Given the description of an element on the screen output the (x, y) to click on. 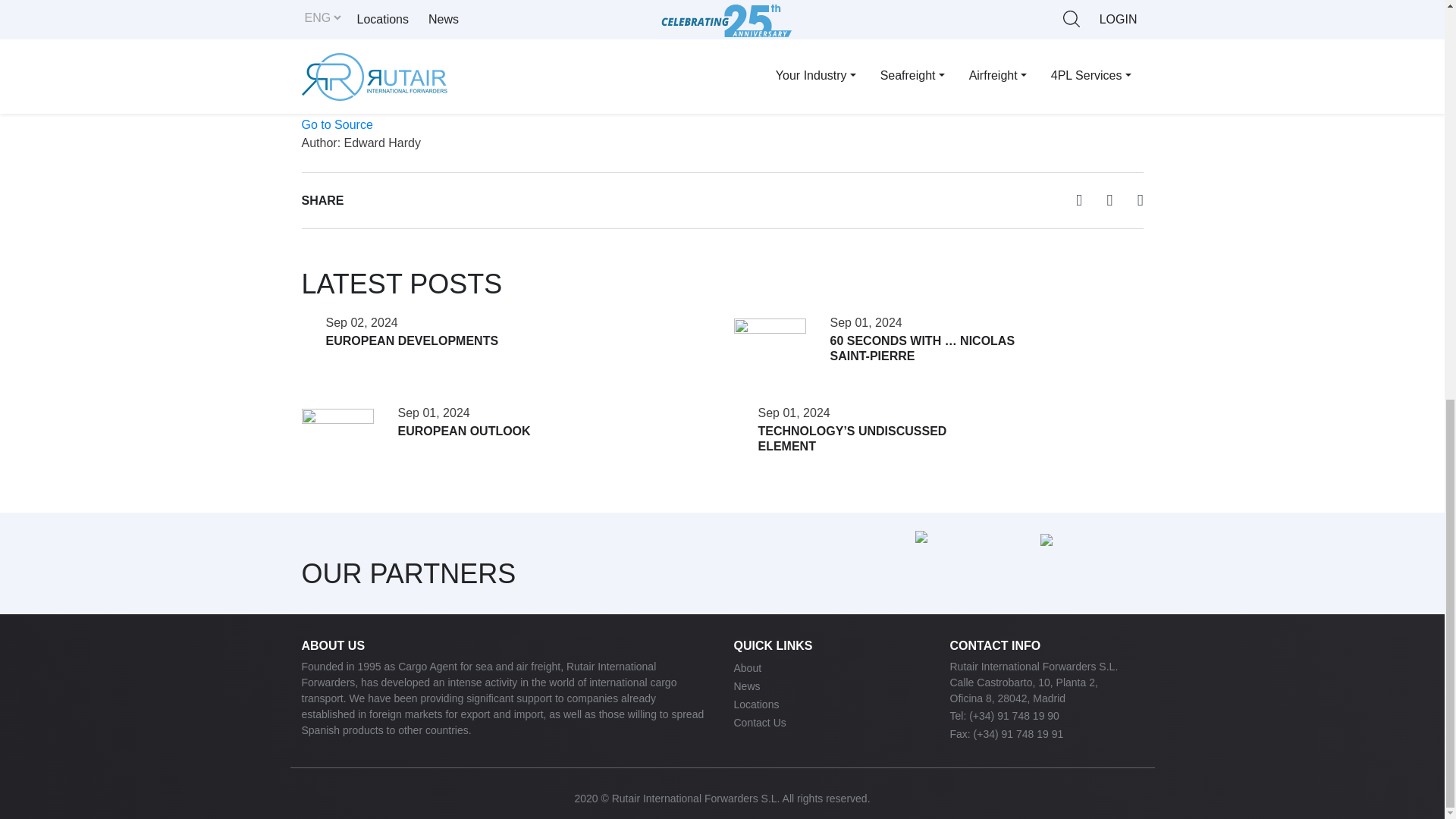
EUROPEAN OUTLOOK (463, 431)
Go to Source (336, 124)
AIR CARGO WEEK (910, 93)
About (747, 667)
EUROPEAN DEVELOPMENTS (412, 340)
